Given the description of an element on the screen output the (x, y) to click on. 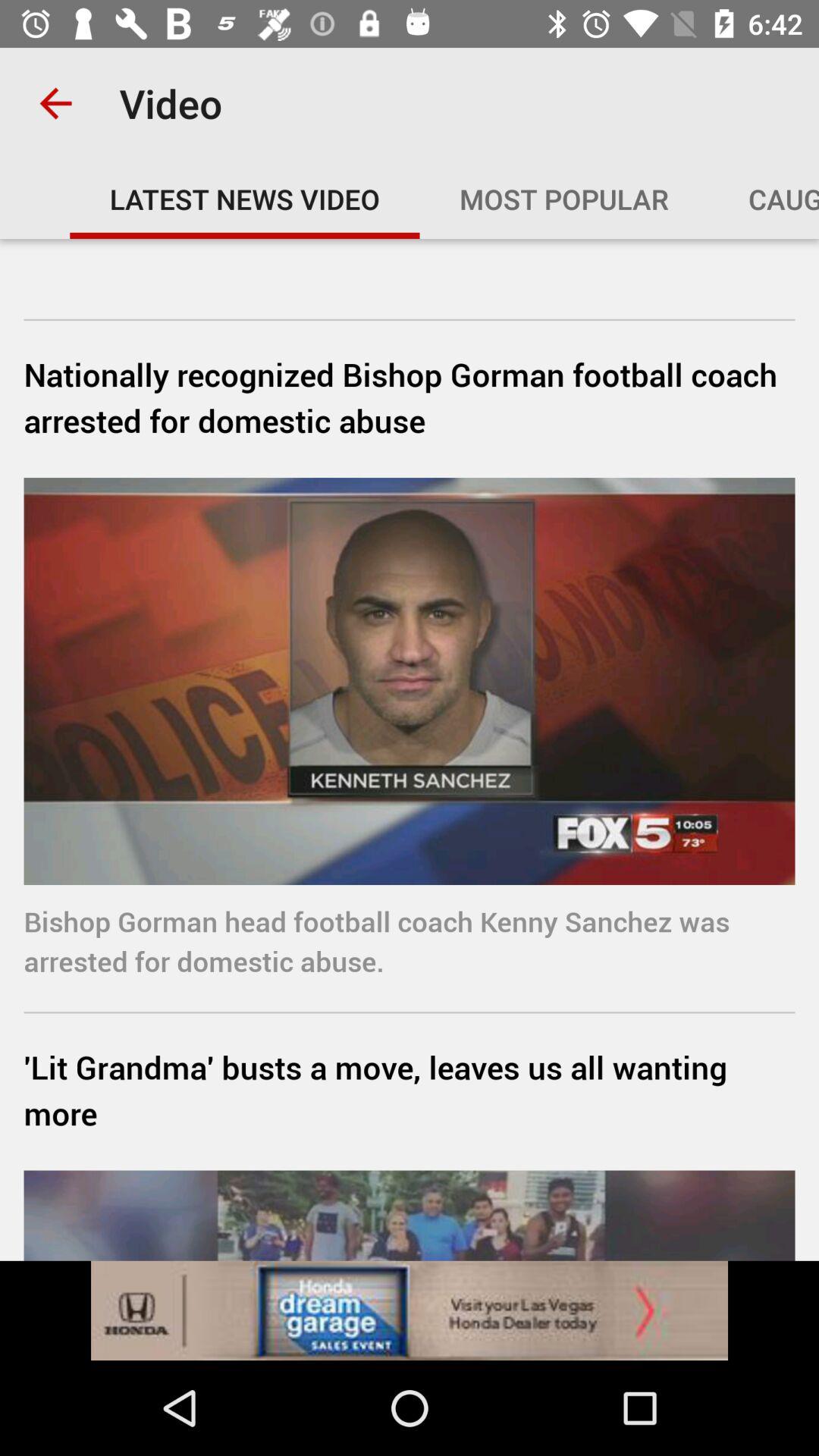
advertisement adding button (409, 1310)
